Given the description of an element on the screen output the (x, y) to click on. 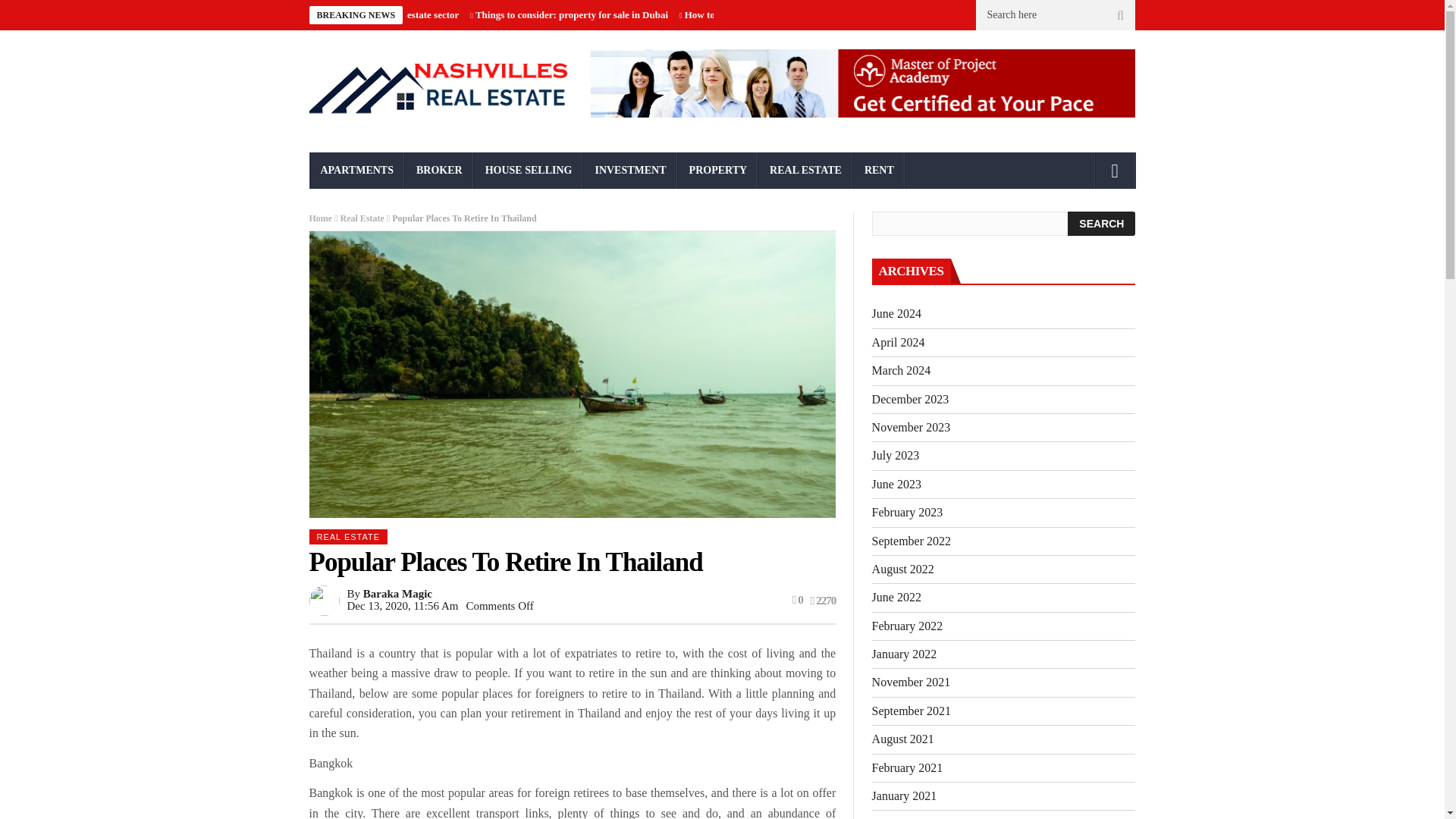
HOUSE SELLING (528, 170)
Home (320, 217)
BROKER (439, 170)
PROPERTY (718, 170)
INVESTMENT (630, 170)
APARTMENTS (356, 170)
Real Estate (362, 217)
Posts by Baraka Magic (397, 593)
Search (1101, 223)
Why location is important in the real estate sector (353, 14)
RENT (879, 170)
REAL ESTATE (348, 536)
Baraka Magic (397, 593)
How to Get a Quick Valuation of Your Real Estate (789, 14)
REAL ESTATE (805, 170)
